Given the description of an element on the screen output the (x, y) to click on. 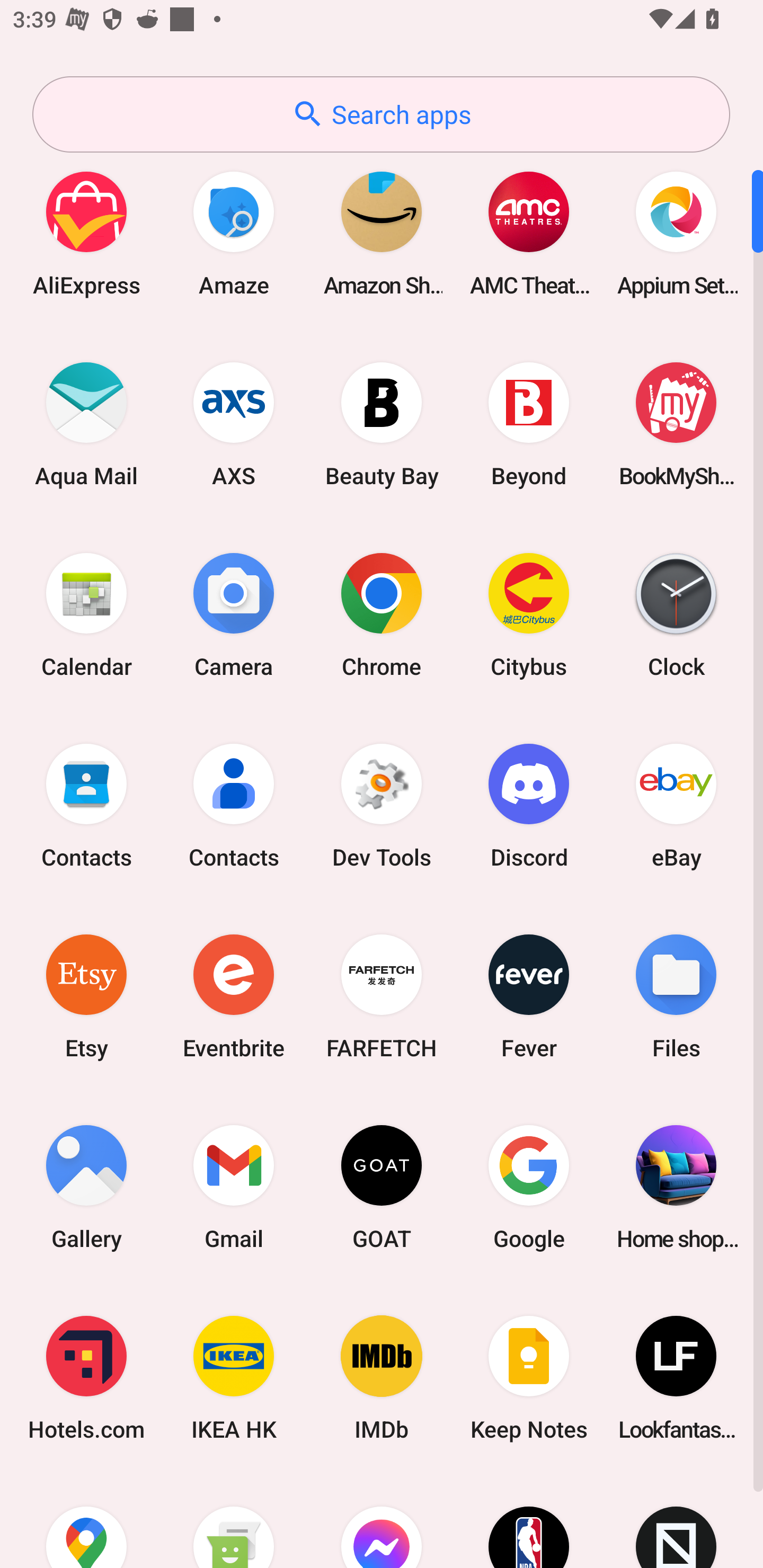
  Search apps (381, 114)
AliExpress (86, 233)
Amaze (233, 233)
Amazon Shopping (381, 233)
AMC Theatres (528, 233)
Appium Settings (676, 233)
Aqua Mail (86, 424)
AXS (233, 424)
Beauty Bay (381, 424)
Beyond (528, 424)
BookMyShow (676, 424)
Calendar (86, 614)
Camera (233, 614)
Chrome (381, 614)
Citybus (528, 614)
Clock (676, 614)
Contacts (86, 805)
Contacts (233, 805)
Dev Tools (381, 805)
Discord (528, 805)
eBay (676, 805)
Etsy (86, 996)
Eventbrite (233, 996)
FARFETCH (381, 996)
Fever (528, 996)
Files (676, 996)
Gallery (86, 1186)
Gmail (233, 1186)
GOAT (381, 1186)
Google (528, 1186)
Home shopping (676, 1186)
Hotels.com (86, 1377)
IKEA HK (233, 1377)
IMDb (381, 1377)
Keep Notes (528, 1377)
Lookfantastic (676, 1377)
Maps (86, 1520)
Messaging (233, 1520)
Messenger (381, 1520)
NBA (528, 1520)
Novelship (676, 1520)
